Given the description of an element on the screen output the (x, y) to click on. 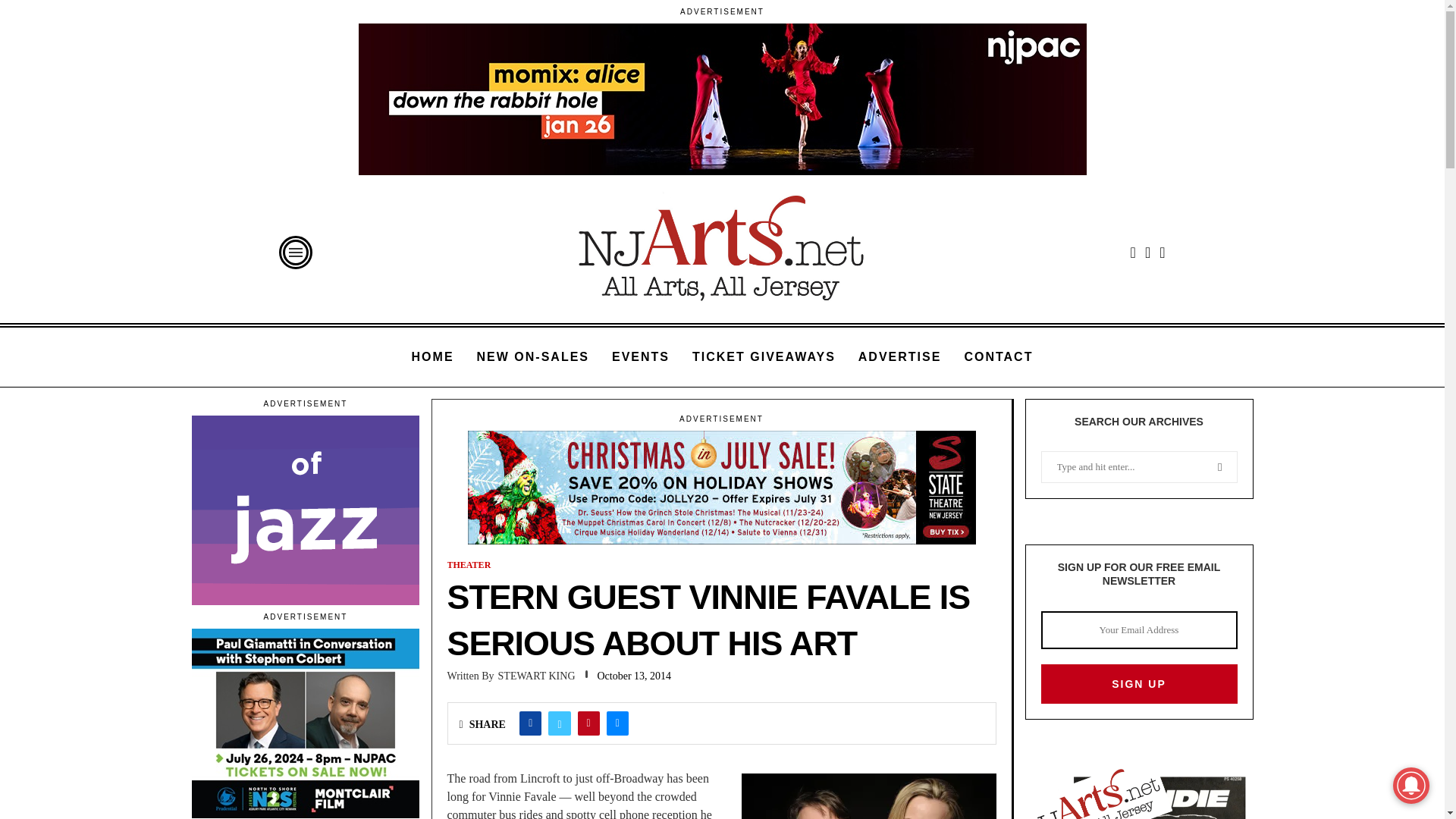
montclairfilm2 (305, 715)
NEW ON-SALES (533, 356)
TICKET GIVEAWAYS (764, 356)
njpac-momix (722, 91)
ADVERTISE (900, 356)
CONTACT (997, 356)
STEWART KING (510, 675)
state10 (721, 479)
EVENTS (640, 356)
THEATER (469, 564)
morris1 (305, 502)
Sign up (1138, 683)
HOME (433, 356)
